Given the description of an element on the screen output the (x, y) to click on. 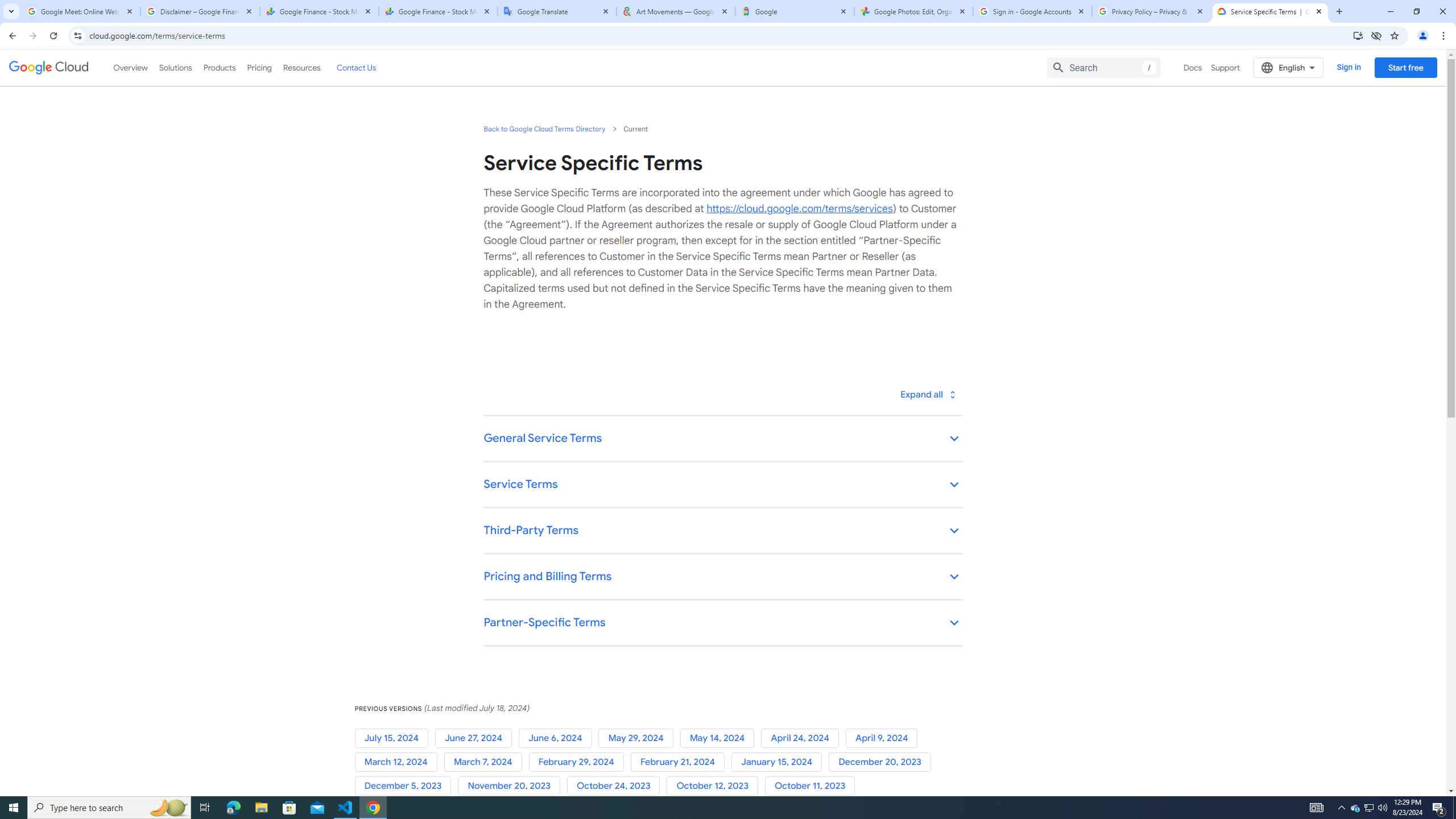
General Service Terms keyboard_arrow_down (722, 439)
Install Google Cloud (1358, 35)
Sign in - Google Accounts (1032, 11)
April 24, 2024 (803, 737)
October 11, 2023 (812, 786)
Back to Google Cloud Terms Directory (544, 128)
